Given the description of an element on the screen output the (x, y) to click on. 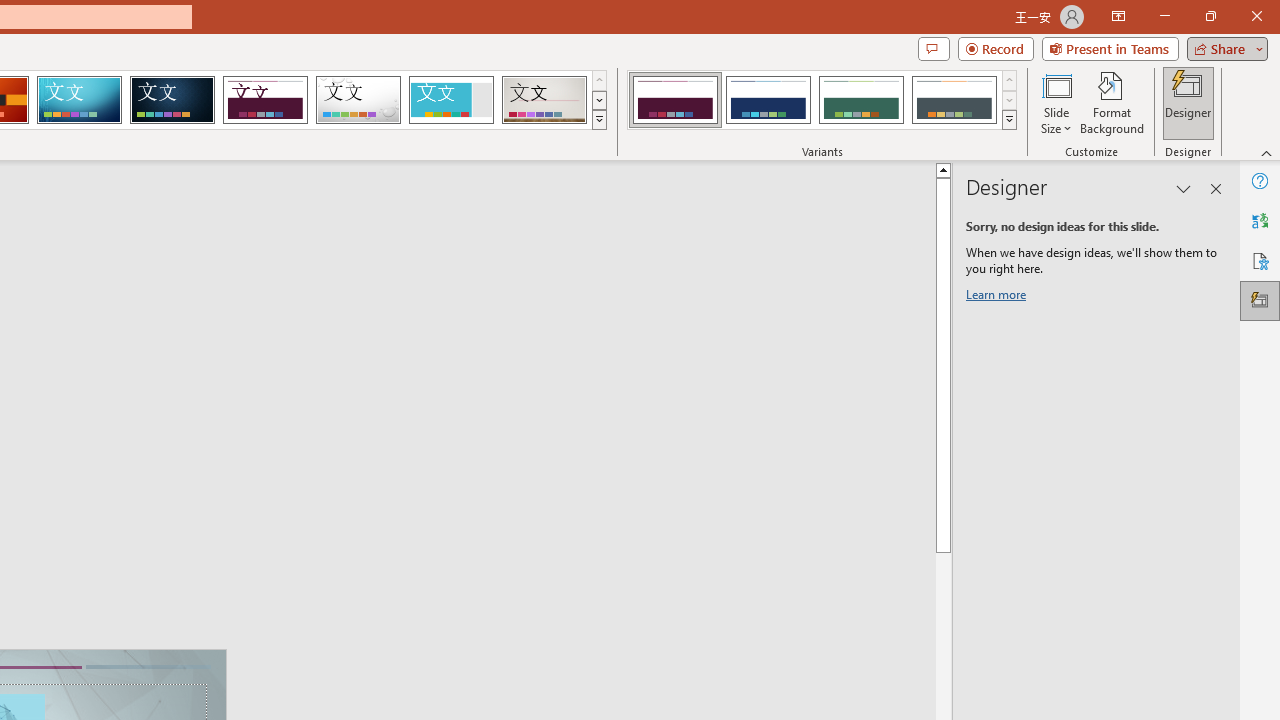
Learn more (998, 297)
Format Background (1111, 102)
Dividend Variant 1 (674, 100)
